Given the description of an element on the screen output the (x, y) to click on. 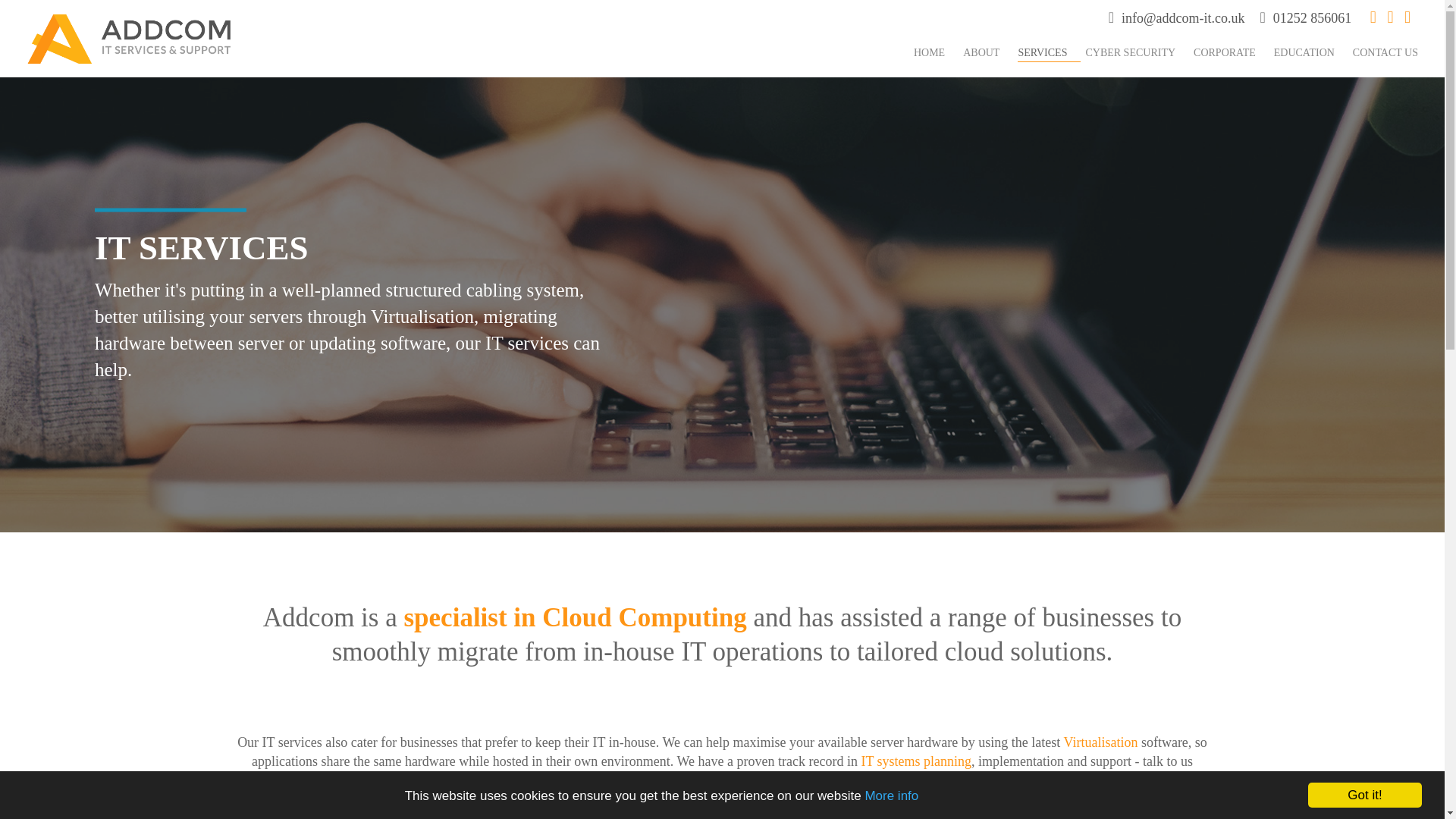
HOME (936, 51)
Got it! (1364, 816)
Cloud Computing - Farnham, Surrey (643, 617)
Addcom IT Support (130, 38)
CORPORATE (1231, 51)
CYBER SECURITY (1136, 51)
SERVICES (1048, 51)
ABOUT (987, 51)
01252 856061 (1312, 17)
More info (891, 816)
Virtualisation Software - Addcom (1099, 742)
IT Project Management - Addcom, Surrey (915, 761)
